Given the description of an element on the screen output the (x, y) to click on. 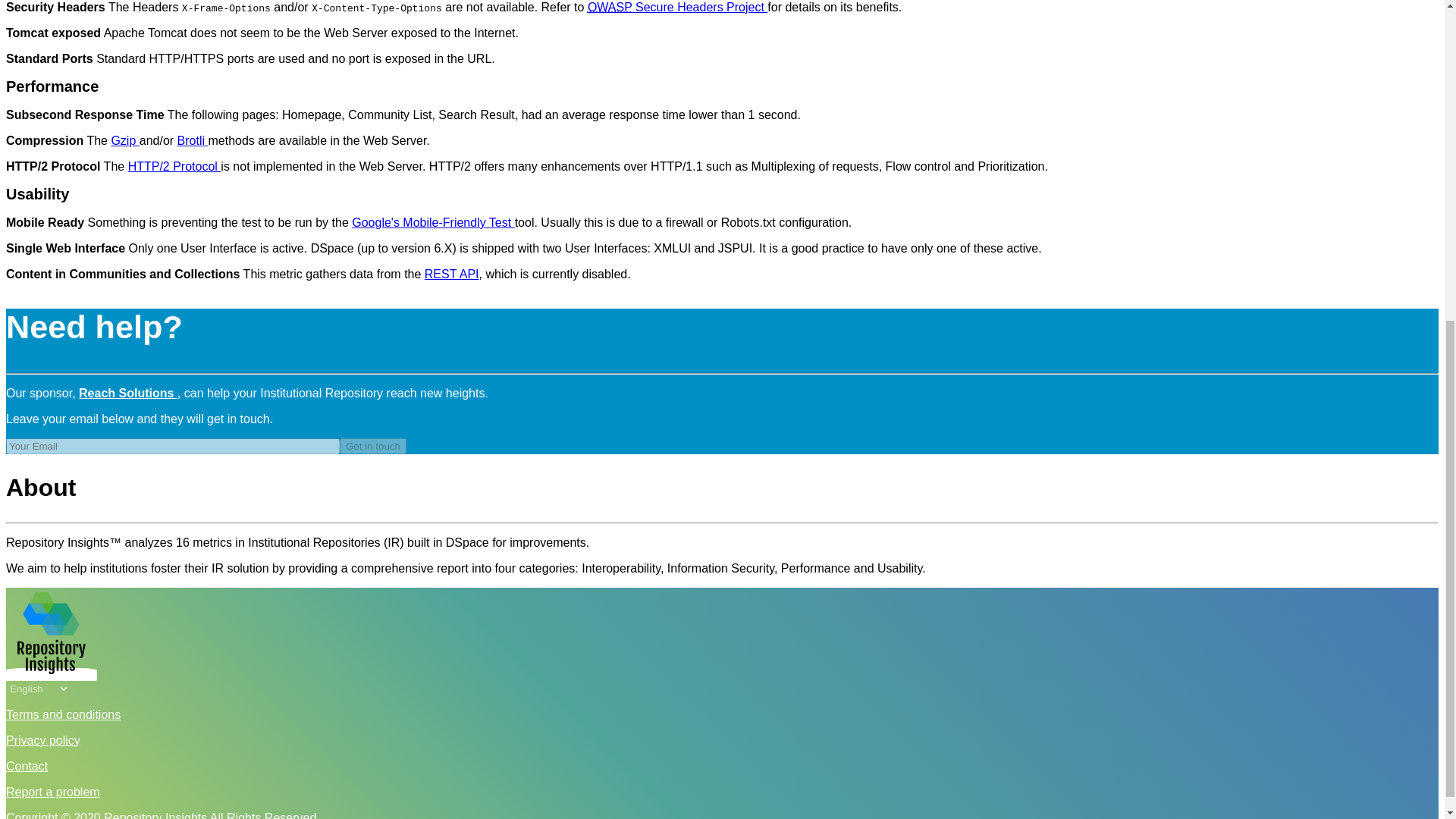
Report a problem (52, 791)
Open Web Application Security Project (609, 6)
OWASP Secure Headers Project (677, 6)
Reach Solutions  (127, 392)
Get in touch (372, 446)
Terms and conditions (62, 714)
REST API (452, 273)
Contact (26, 766)
Gzip (124, 140)
Privacy policy (42, 739)
Google's Mobile-Friendly Test (432, 222)
Brotli (192, 140)
